Given the description of an element on the screen output the (x, y) to click on. 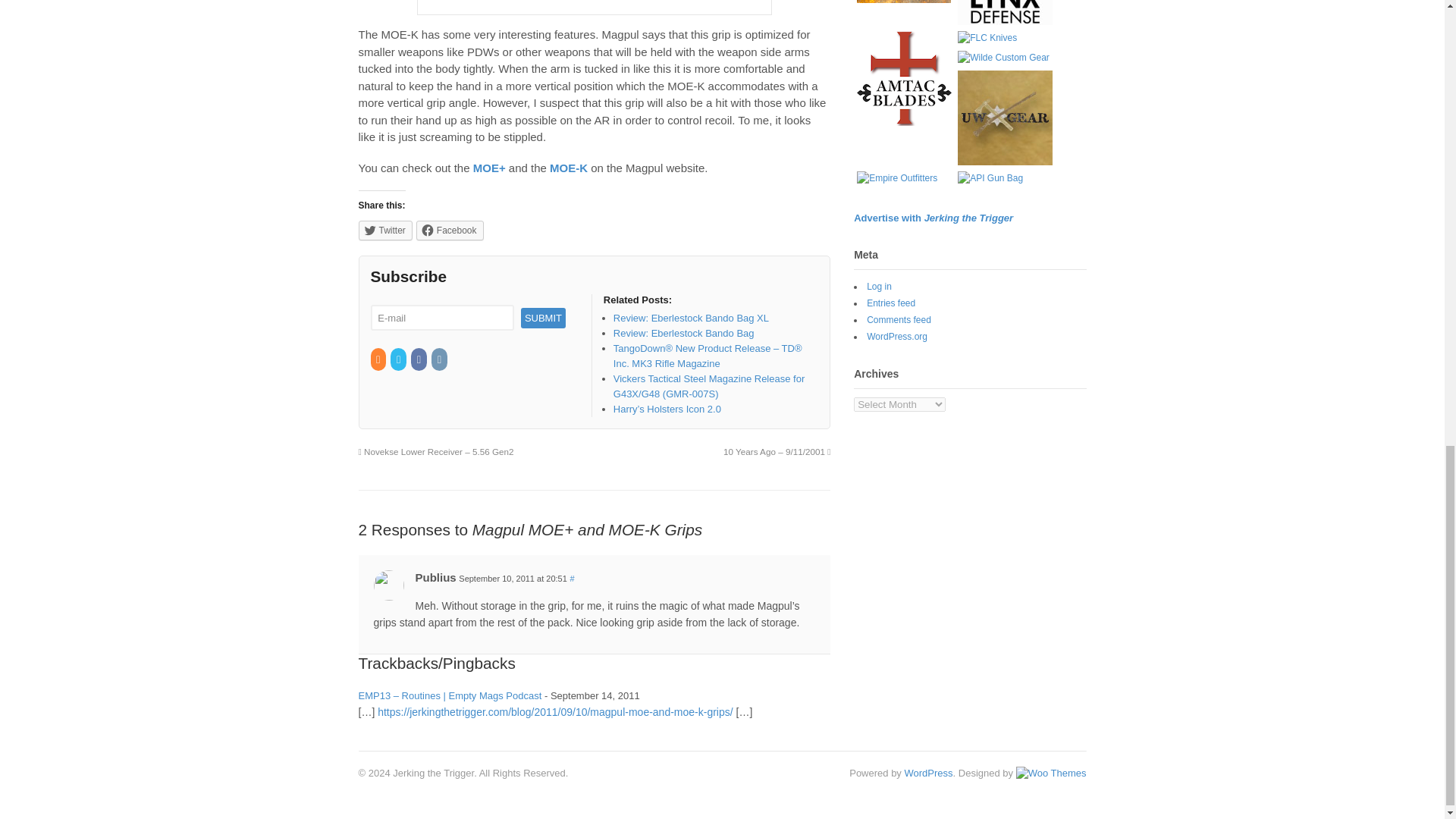
E-mail (441, 317)
Review: Eberlestock Bando Bag (683, 333)
Click to share on Twitter (385, 230)
MOE-K (569, 167)
Submit (543, 317)
Twitter (398, 359)
Instagram (439, 359)
Review: Eberlestock Bando Bag (683, 333)
Review: Eberlestock Bando Bag XL (690, 317)
Twitter (385, 230)
